Given the description of an element on the screen output the (x, y) to click on. 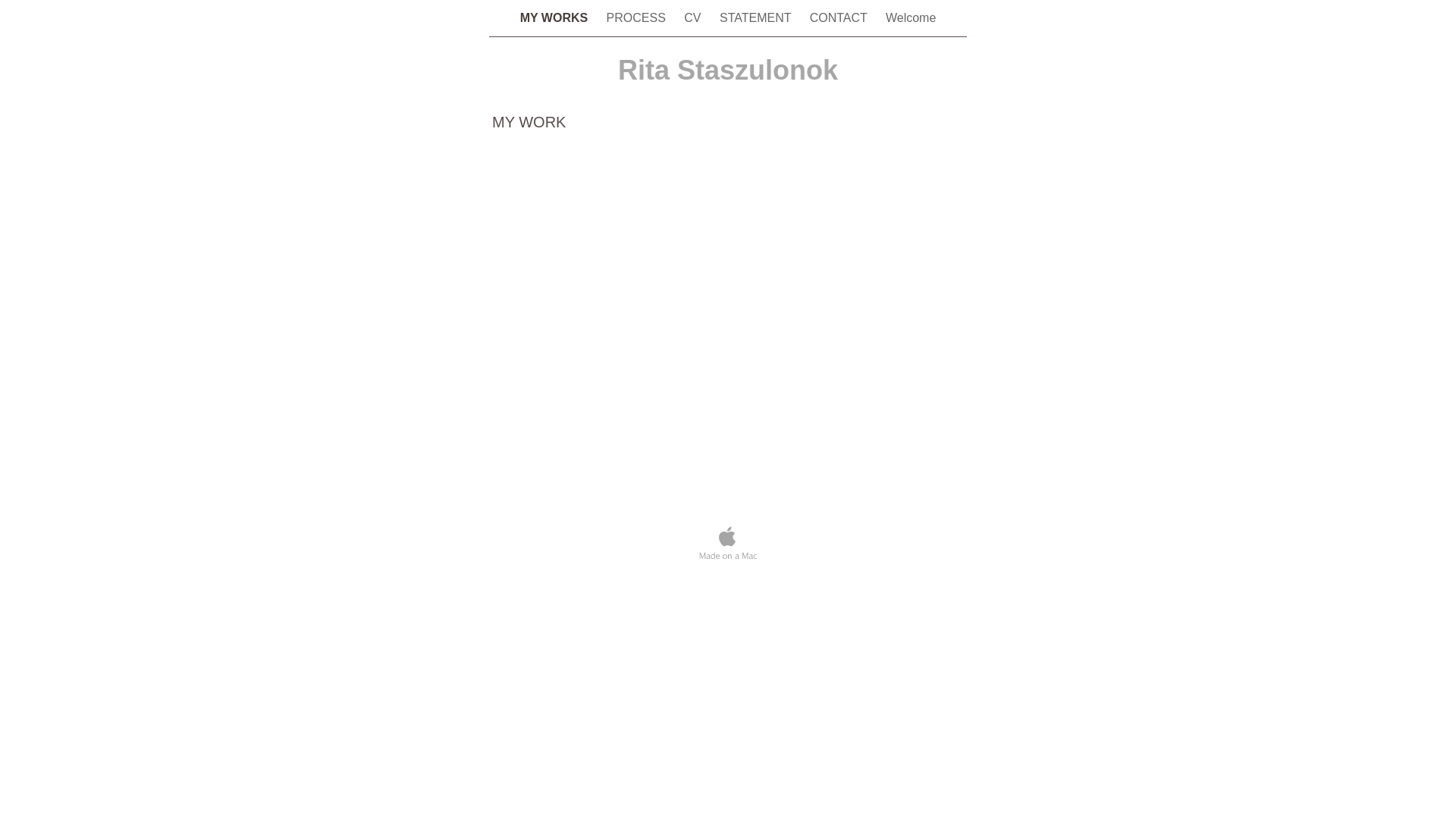
CV Element type: text (694, 17)
Welcome Element type: text (910, 17)
MY WORKS Element type: text (555, 17)
STATEMENT Element type: text (756, 17)
PROCESS Element type: text (637, 17)
CONTACT Element type: text (839, 17)
